Given the description of an element on the screen output the (x, y) to click on. 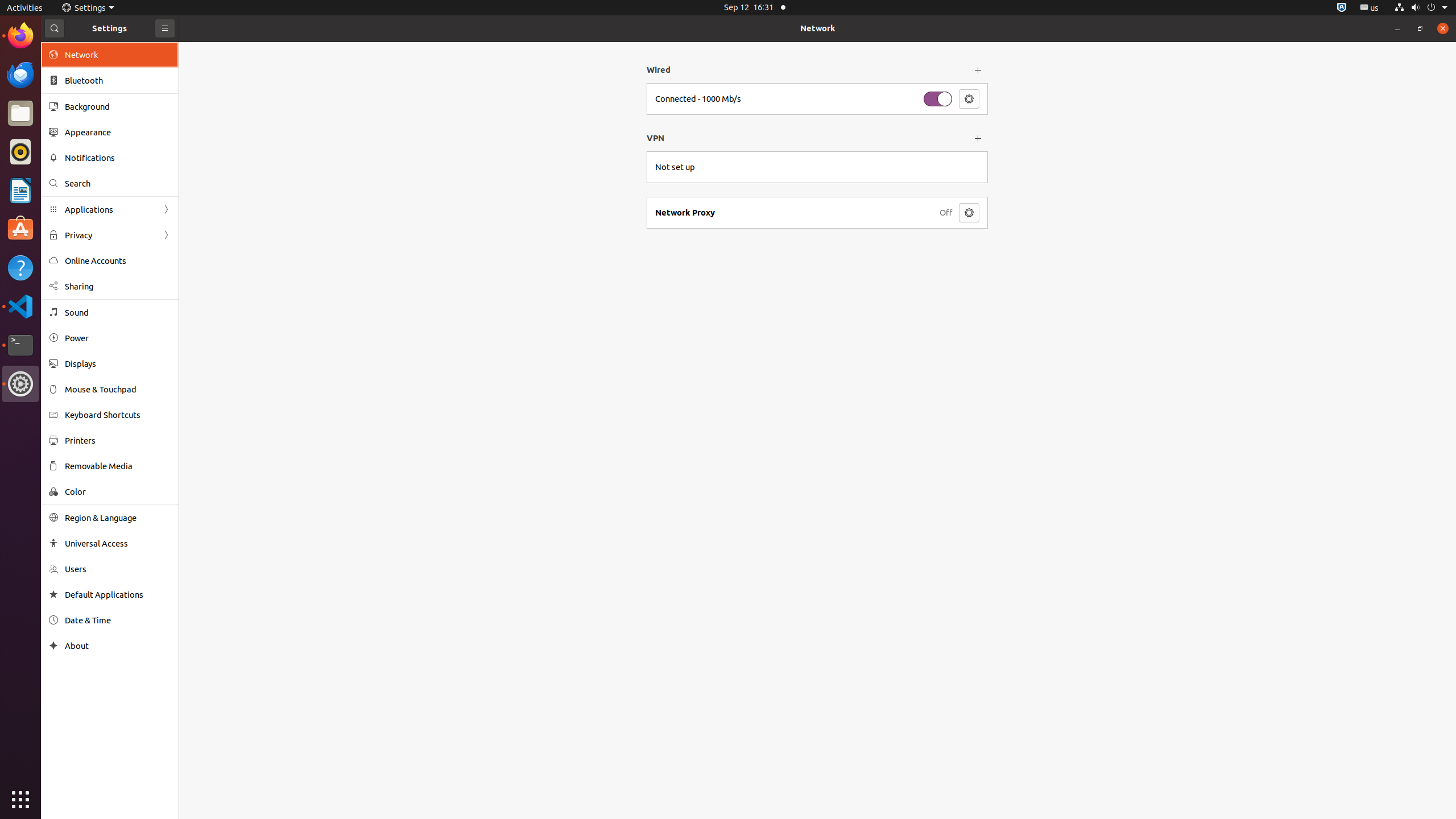
Network Proxy Element type: label (793, 212)
About Element type: icon (53, 645)
Forward Element type: icon (165, 235)
Minimize Element type: push-button (1397, 27)
Users Element type: label (117, 568)
